Given the description of an element on the screen output the (x, y) to click on. 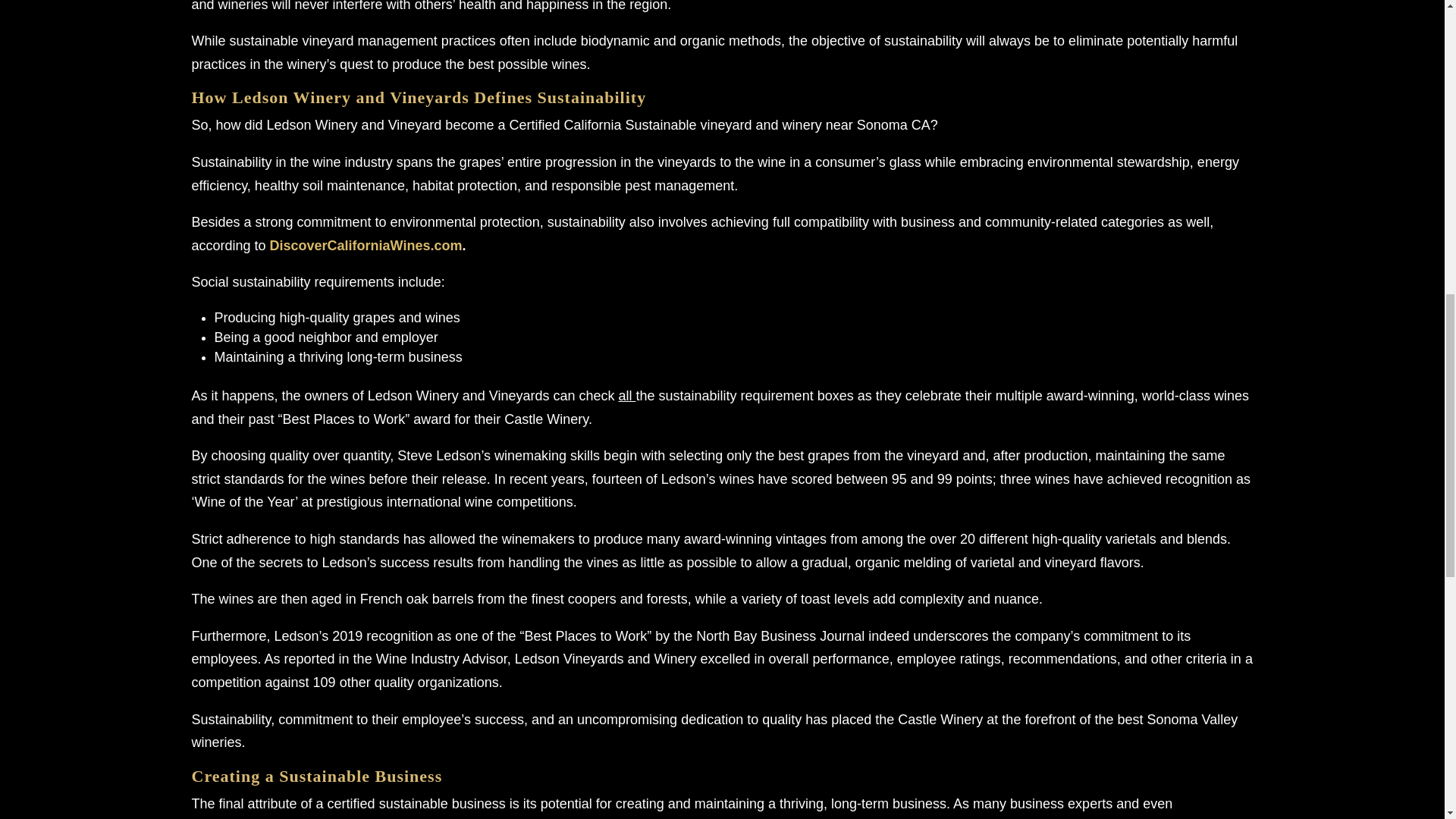
DiscoverCaliforniaWines.com (366, 245)
